Given the description of an element on the screen output the (x, y) to click on. 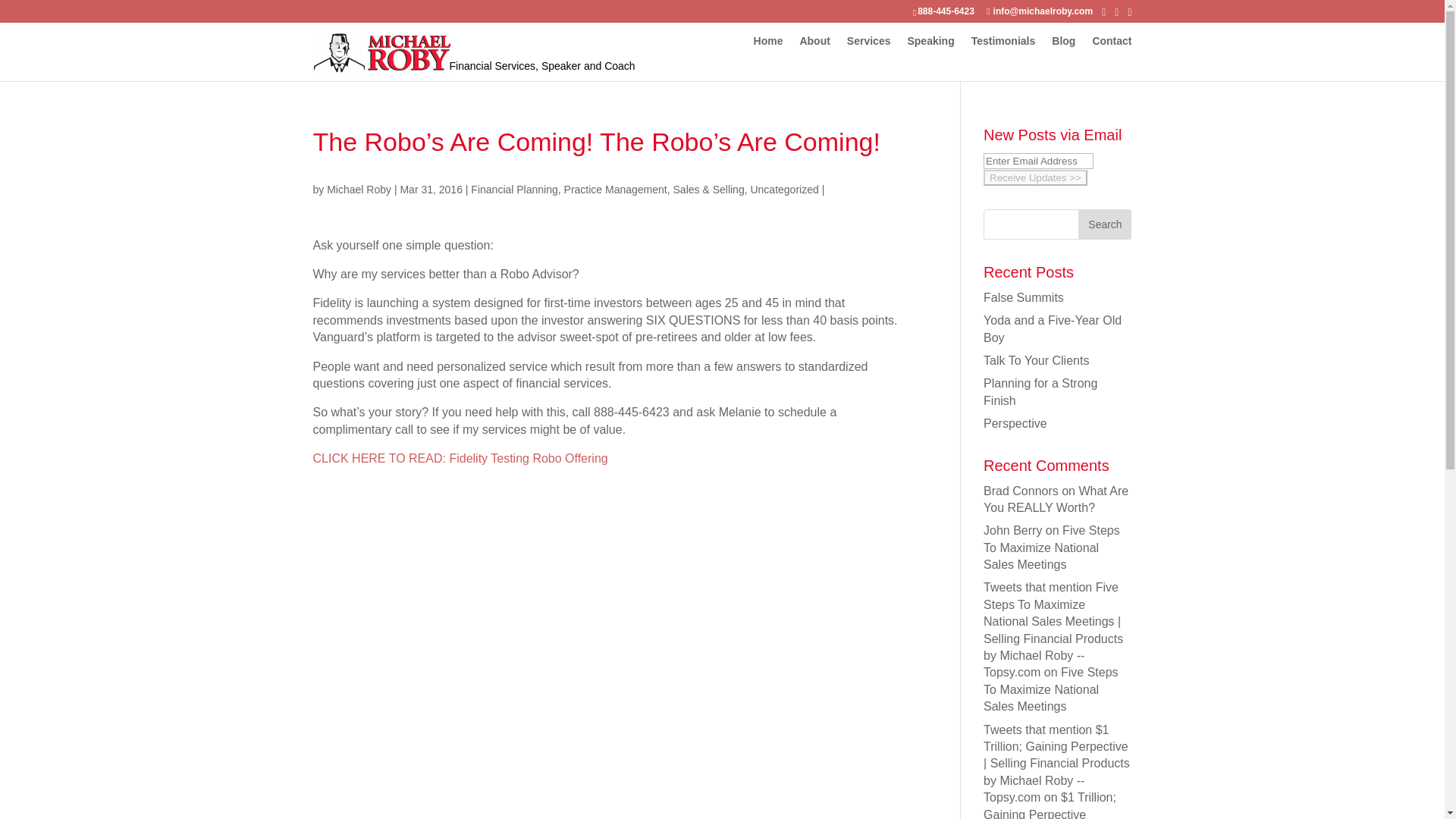
About (814, 40)
Michael Roby (358, 189)
Planning for a Strong Finish (1040, 391)
Testimonials (1003, 40)
Blog (1063, 40)
Speaking (930, 40)
CLICK HERE TO READ: Fidelity Testing Robo Offering (460, 458)
Contact (1111, 40)
Services (869, 40)
Home (768, 40)
Five Steps To Maximize National Sales Meetings (1051, 688)
Five Steps To Maximize National Sales Meetings (1051, 547)
Search (1104, 224)
Financial Planning (513, 189)
Brad Connors (1021, 490)
